Given the description of an element on the screen output the (x, y) to click on. 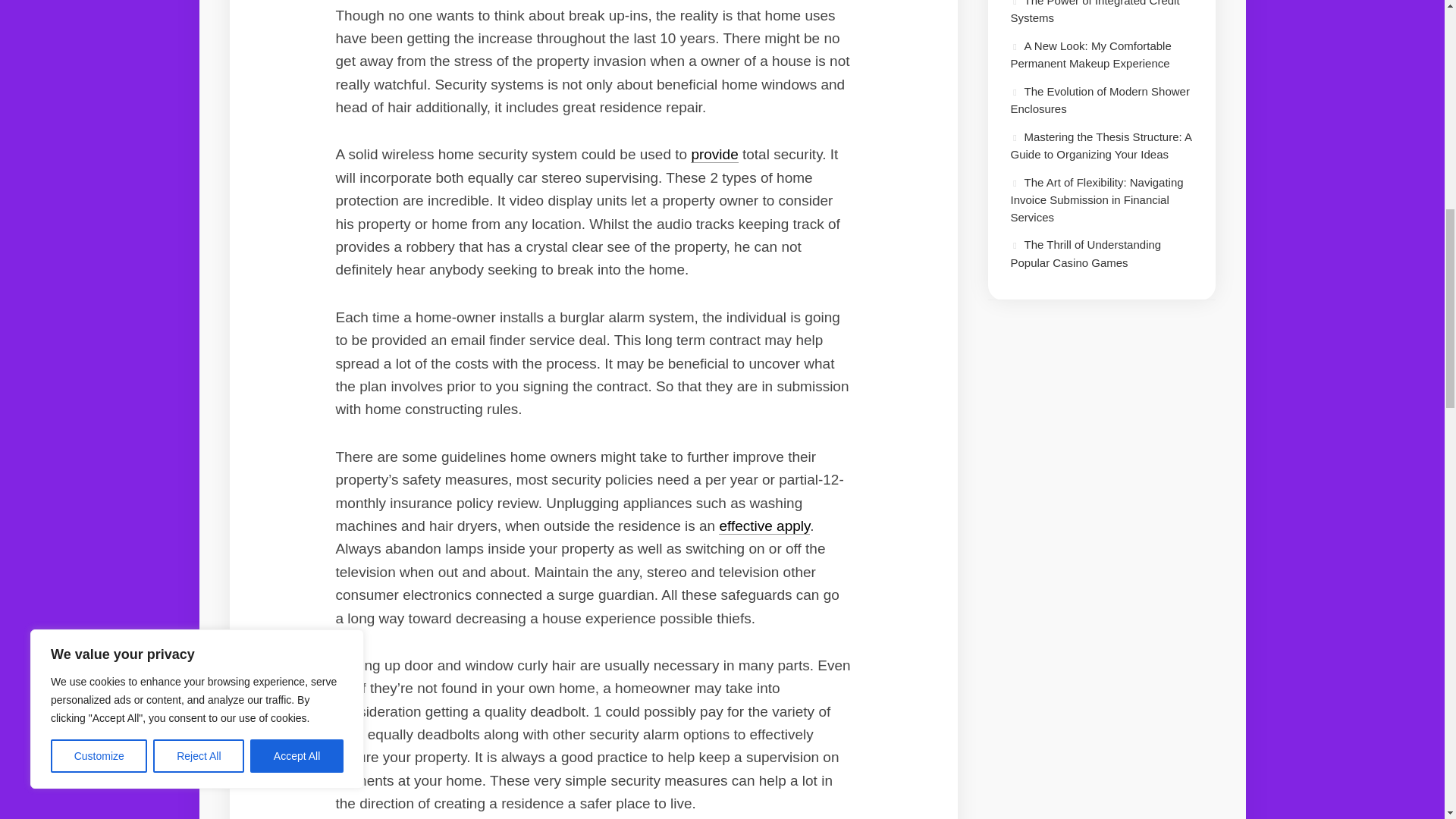
provide (714, 154)
effective apply (764, 525)
